Given the description of an element on the screen output the (x, y) to click on. 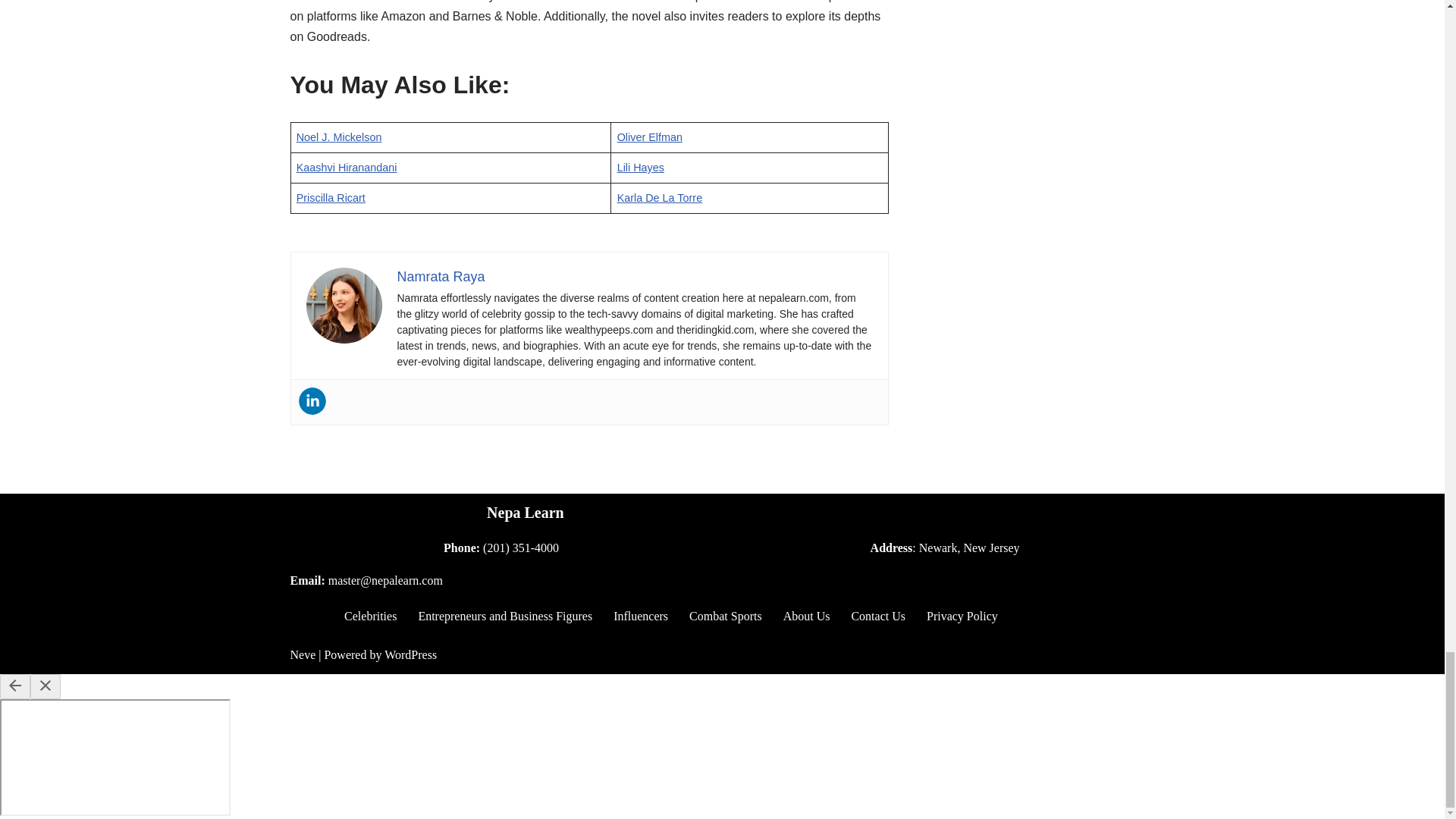
Entrepreneurs and Business Figures (504, 616)
Influencers (640, 616)
Privacy Policy (961, 616)
Neve (302, 654)
Karla De La Torre (660, 197)
Contact Us (877, 616)
Oliver Elfman (649, 137)
Lili Hayes (640, 167)
Kaashvi Hiranandani (347, 167)
Namrata Raya (440, 276)
